Given the description of an element on the screen output the (x, y) to click on. 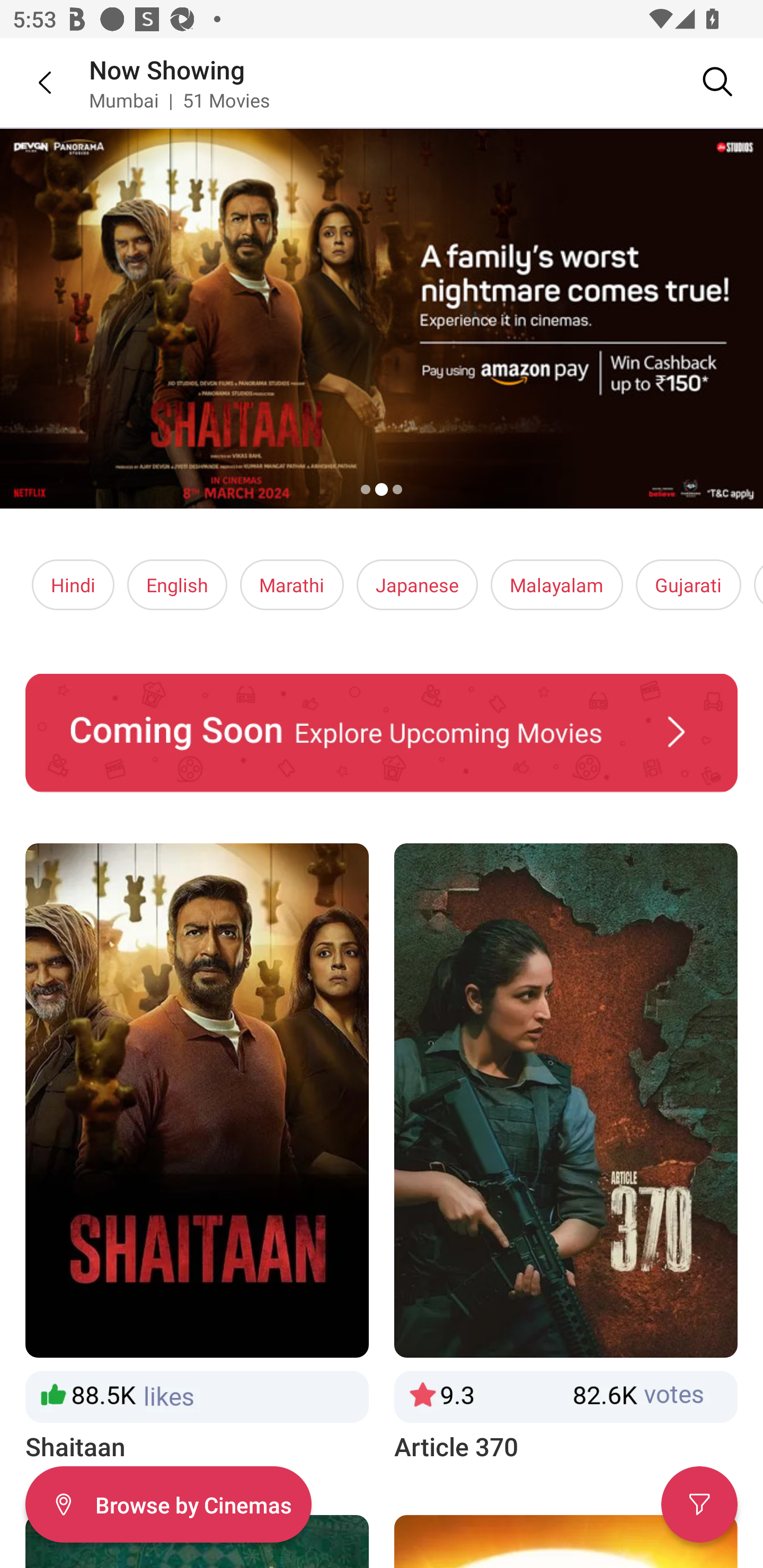
Back (31, 82)
Now Showing (166, 68)
Mumbai  |  51 Movies (179, 99)
Hindi (73, 584)
English (177, 584)
Marathi (292, 584)
Japanese (416, 584)
Malayalam (556, 584)
Gujarati (688, 584)
Shaitaan (196, 1153)
Article 370 (565, 1153)
Filter Browse by Cinemas (168, 1504)
Filter (699, 1504)
